Given the description of an element on the screen output the (x, y) to click on. 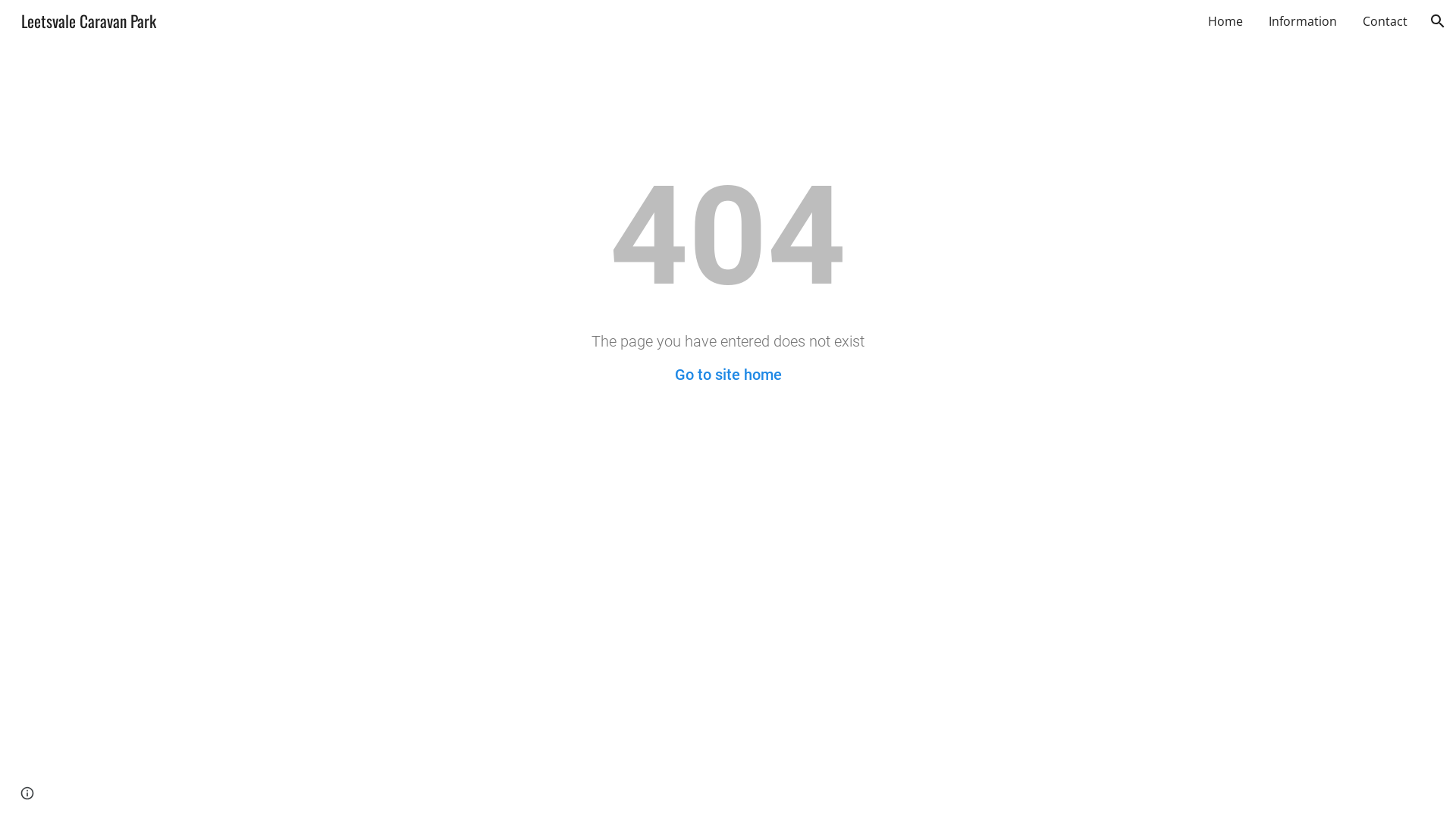
Contact Element type: text (1385, 20)
Home Element type: text (1225, 20)
Go to site home Element type: text (727, 374)
Information Element type: text (1302, 20)
Leetsvale Caravan Park Element type: text (88, 18)
